Given the description of an element on the screen output the (x, y) to click on. 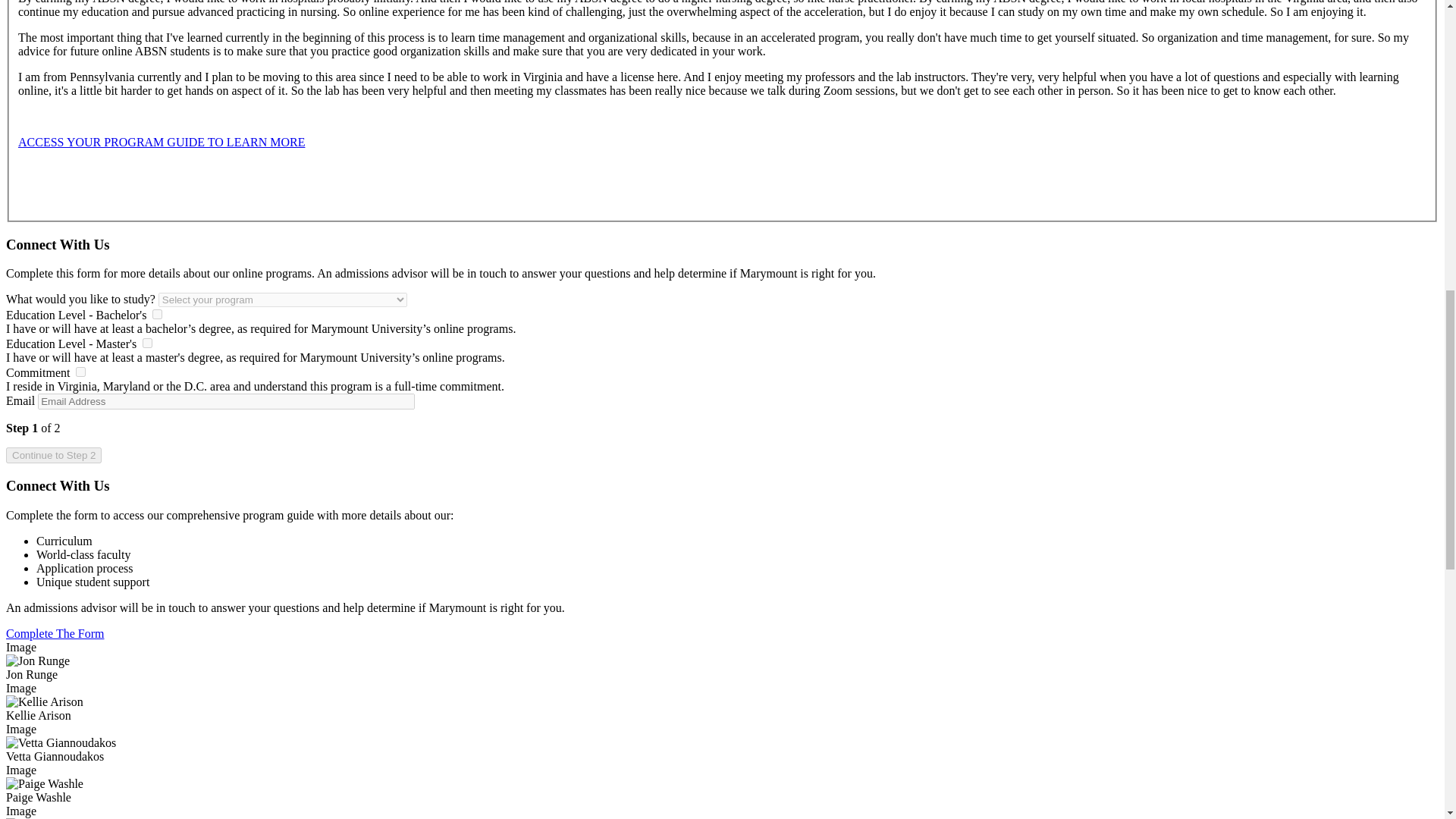
ACCESS YOUR PROGRAM GUIDE TO LEARN MORE (160, 141)
Continue to Step 2 (53, 455)
1 (147, 343)
1 (80, 371)
Continue to Step 2 (53, 455)
1 (156, 314)
